Given the description of an element on the screen output the (x, y) to click on. 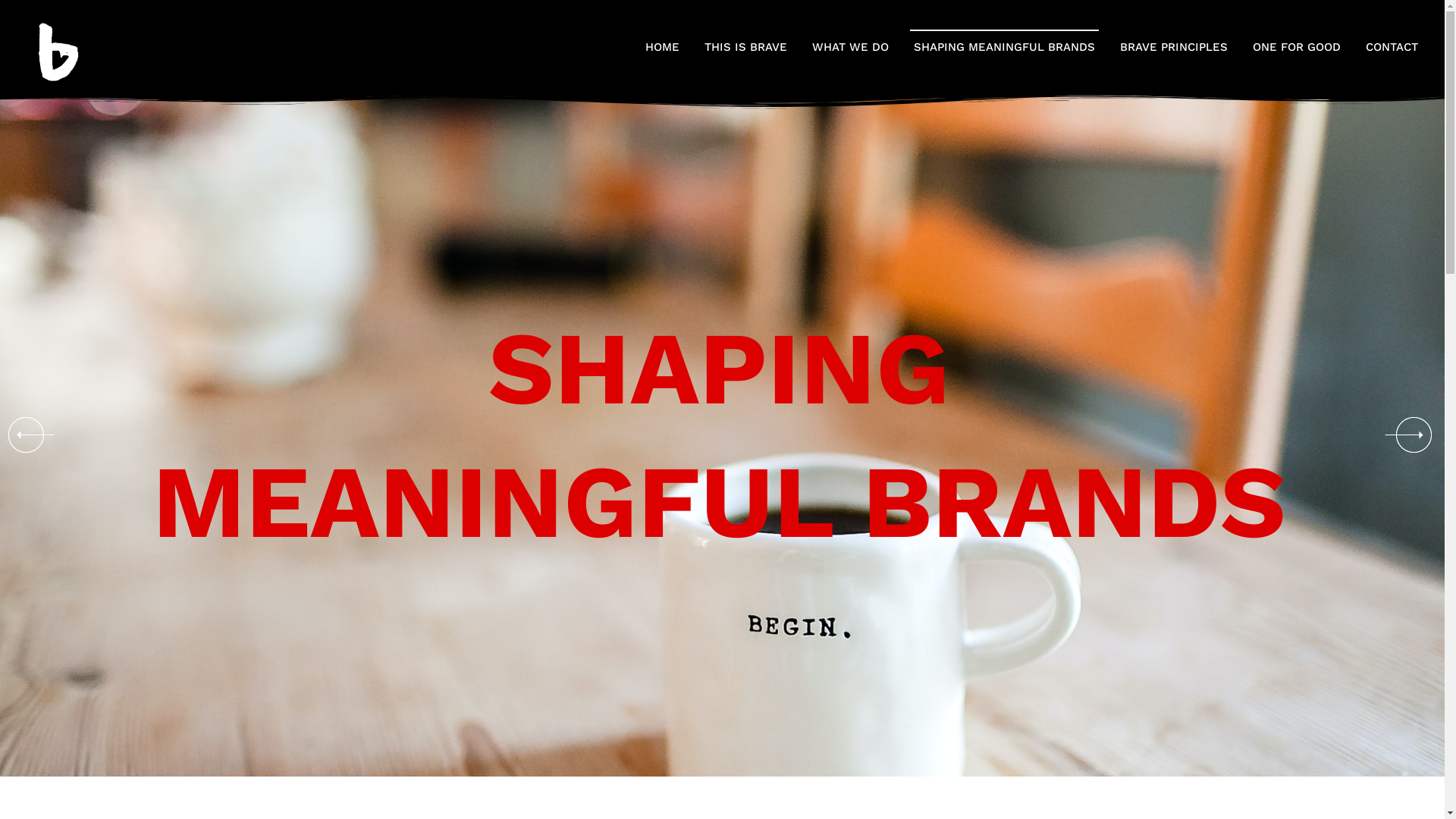
HOME Element type: text (662, 46)
SHAPING MEANINGFUL BRANDS Element type: text (1004, 46)
BRAVE PRINCIPLES Element type: text (1173, 46)
WHAT WE DO Element type: text (850, 46)
THIS IS BRAVE Element type: text (745, 46)
ONE FOR GOOD Element type: text (1296, 46)
CONTACT Element type: text (1391, 46)
